Given the description of an element on the screen output the (x, y) to click on. 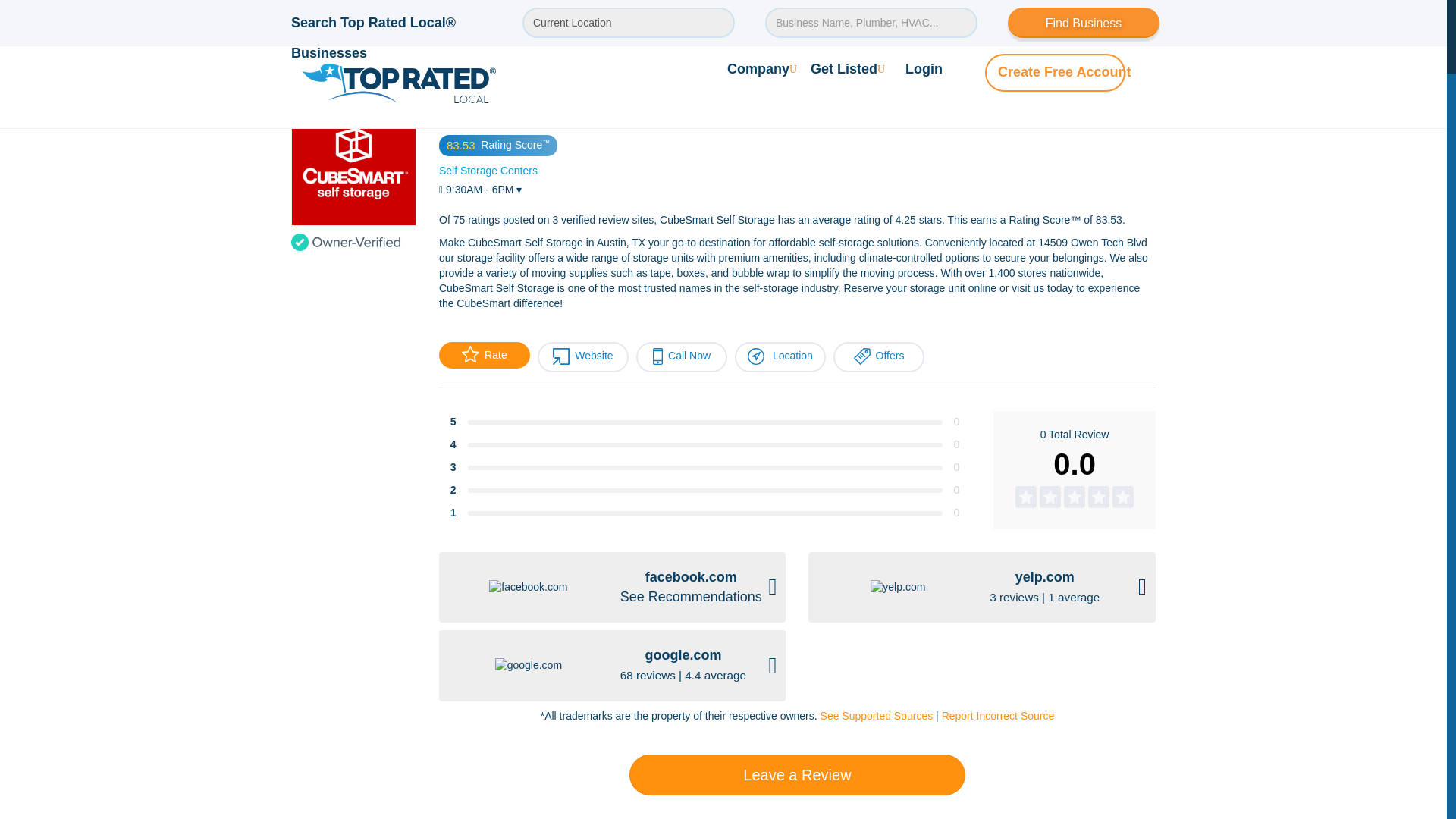
Rate (484, 355)
Self Storage Centers (488, 170)
Self Storage Centers (446, 61)
CubeSmart Self Storage (572, 61)
Website (582, 357)
Austin, Texas (346, 61)
